Given the description of an element on the screen output the (x, y) to click on. 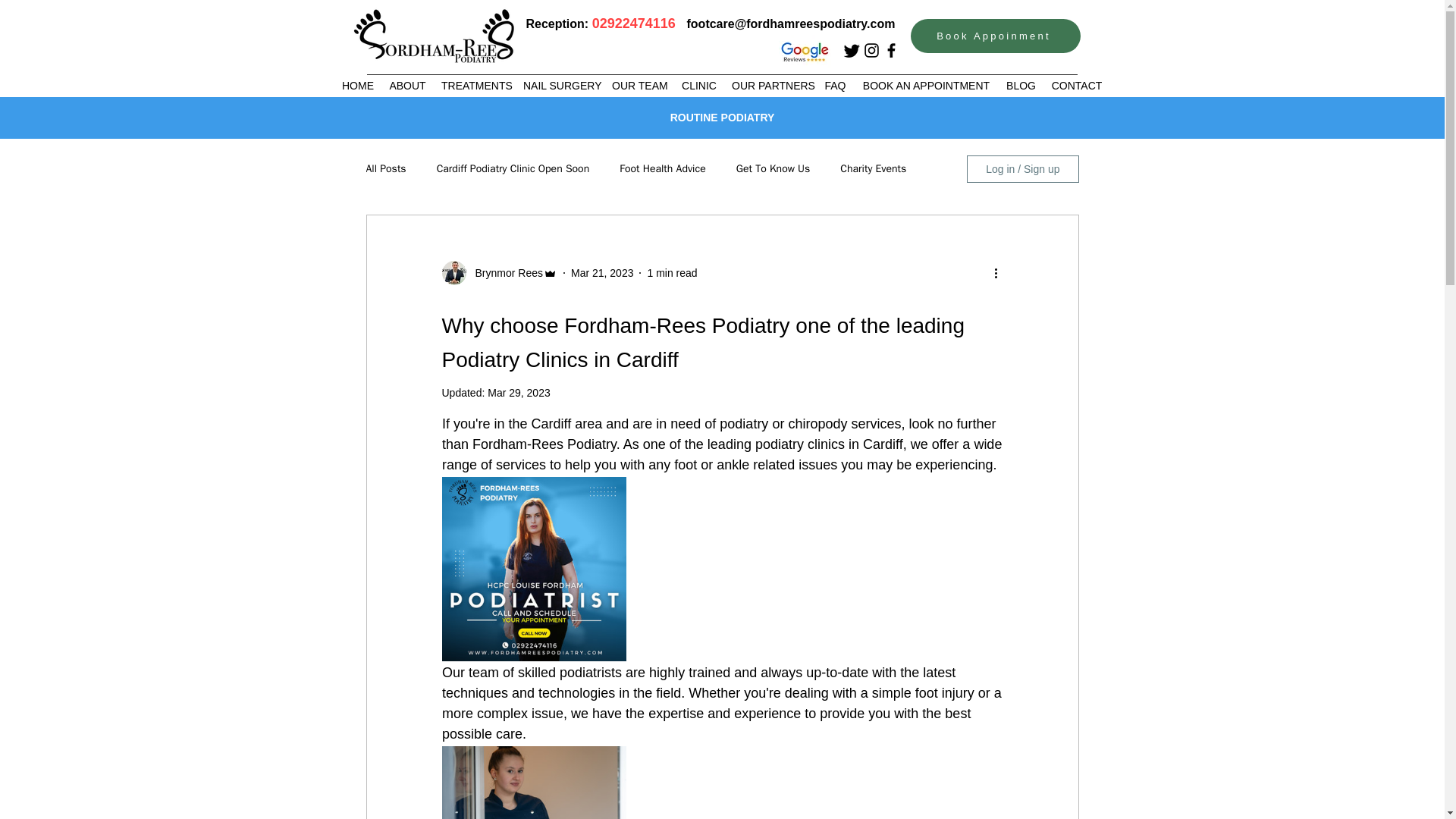
BLOG (1020, 85)
Charity Events (872, 169)
CLINIC (698, 85)
BOOK AN APPOINTMENT (925, 85)
Cardiff Podiatry Clinic Open Soon (512, 169)
1 min read (671, 272)
Foot Health Advice (663, 169)
HOME (357, 85)
OUR TEAM (639, 85)
All Posts (385, 169)
Book Appoinment (995, 35)
OUR PARTNERS (769, 85)
NAIL SURGERY (559, 85)
Brynmor Rees (503, 273)
Get To Know Us (773, 169)
